Given the description of an element on the screen output the (x, y) to click on. 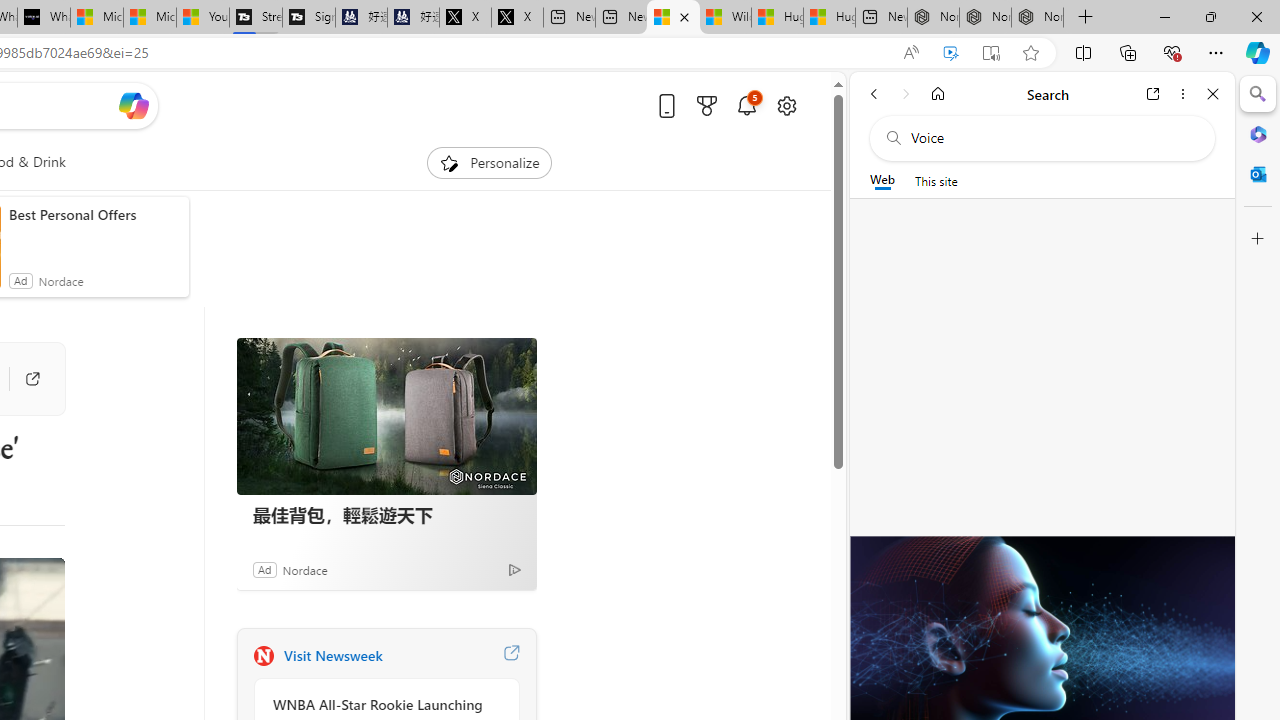
Customize (1258, 239)
Ad Choice (514, 569)
Microsoft rewards (707, 105)
Home (938, 93)
Microsoft Start Sports (96, 17)
Notifications (746, 105)
Best Personal Offers (93, 214)
Enter Immersive Reader (F9) (991, 53)
